Given the description of an element on the screen output the (x, y) to click on. 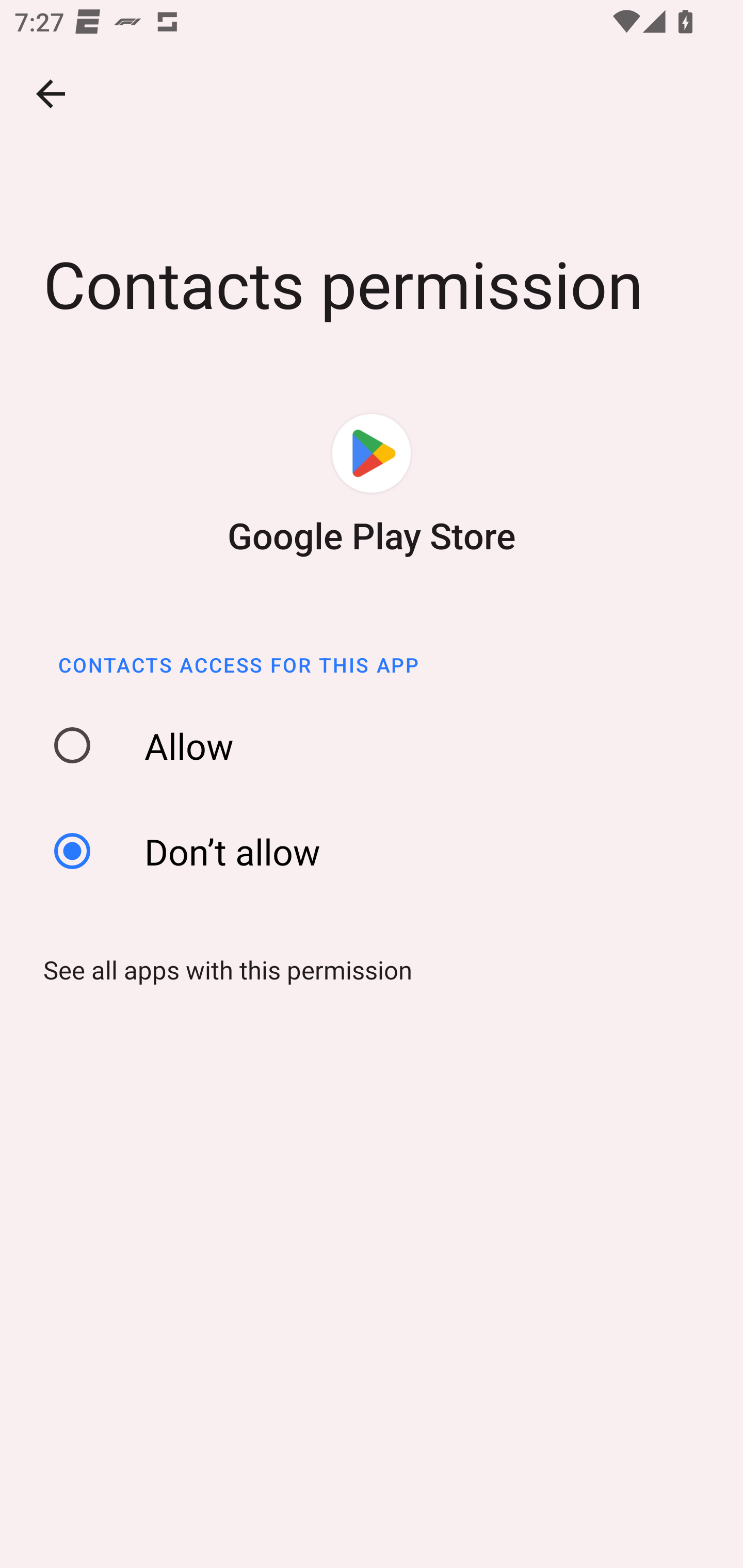
Back (50, 93)
Allow (378, 745)
Don’t allow (378, 850)
See all apps with this permission (220, 969)
